Given the description of an element on the screen output the (x, y) to click on. 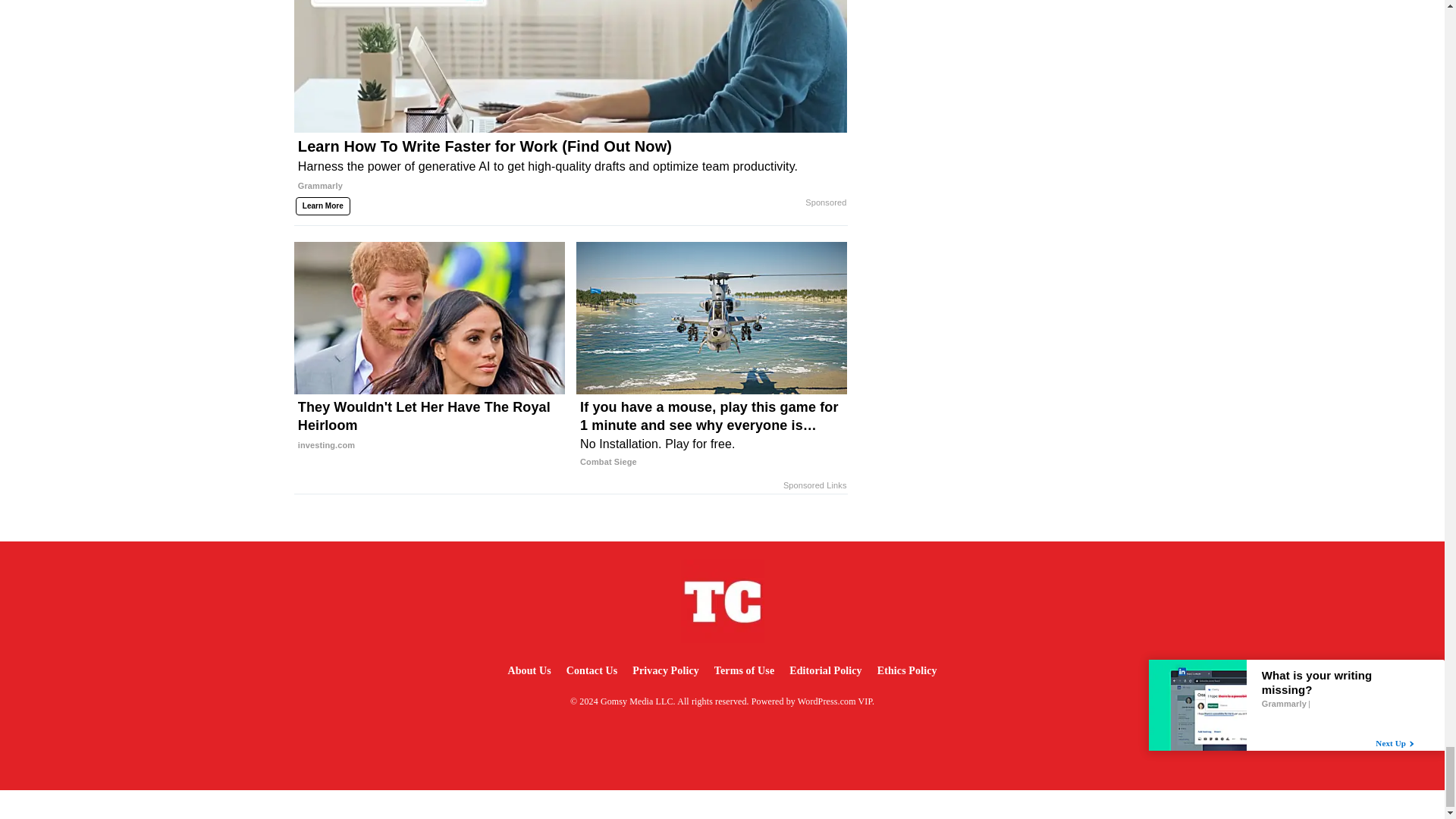
They Wouldn't Let Her Have The Royal Heirloom (429, 426)
